Given the description of an element on the screen output the (x, y) to click on. 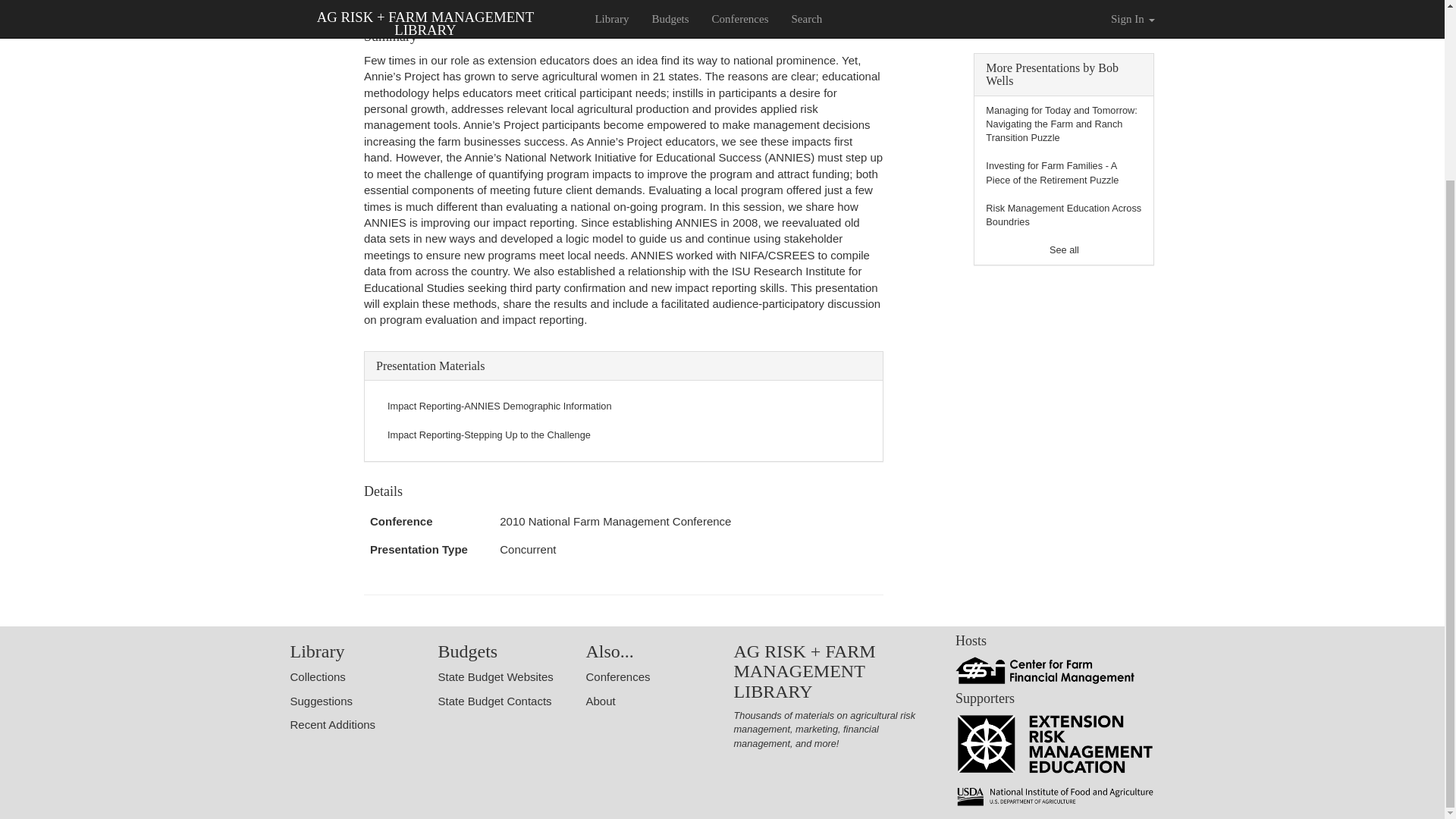
2010 National Farm Management Conference (614, 521)
Library (316, 650)
See all (1063, 249)
Impact Reporting-Stepping Up to the Challenge (489, 434)
State Budget Websites (495, 676)
Risk Management Education Across Boundries (1063, 214)
State Budget Contacts (494, 700)
Suggestions (320, 700)
